Given the description of an element on the screen output the (x, y) to click on. 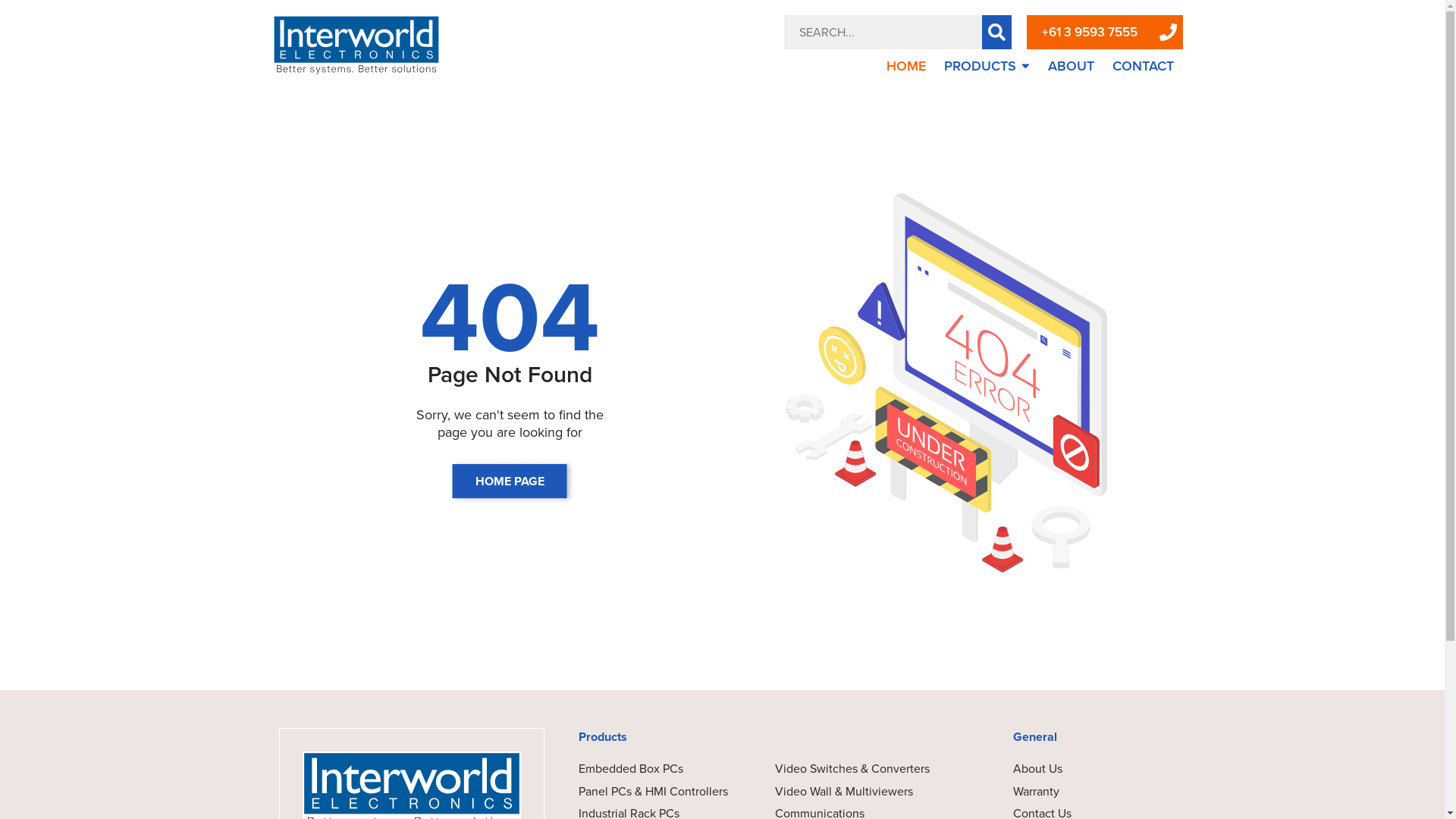
PRODUCTS Element type: text (986, 65)
CONTACT Element type: text (1142, 65)
+61 3 9593 7555 Element type: text (1089, 31)
Warranty Element type: text (1036, 791)
Panel PCs & HMI Controllers Element type: text (656, 791)
ABOUT Element type: text (1071, 65)
HOME Element type: text (905, 65)
HOME PAGE Element type: text (508, 481)
About Us Element type: text (1037, 768)
Video Wall & Multiviewers Element type: text (852, 791)
Embedded Box PCs Element type: text (656, 768)
Video Switches & Converters Element type: text (852, 768)
